Given the description of an element on the screen output the (x, y) to click on. 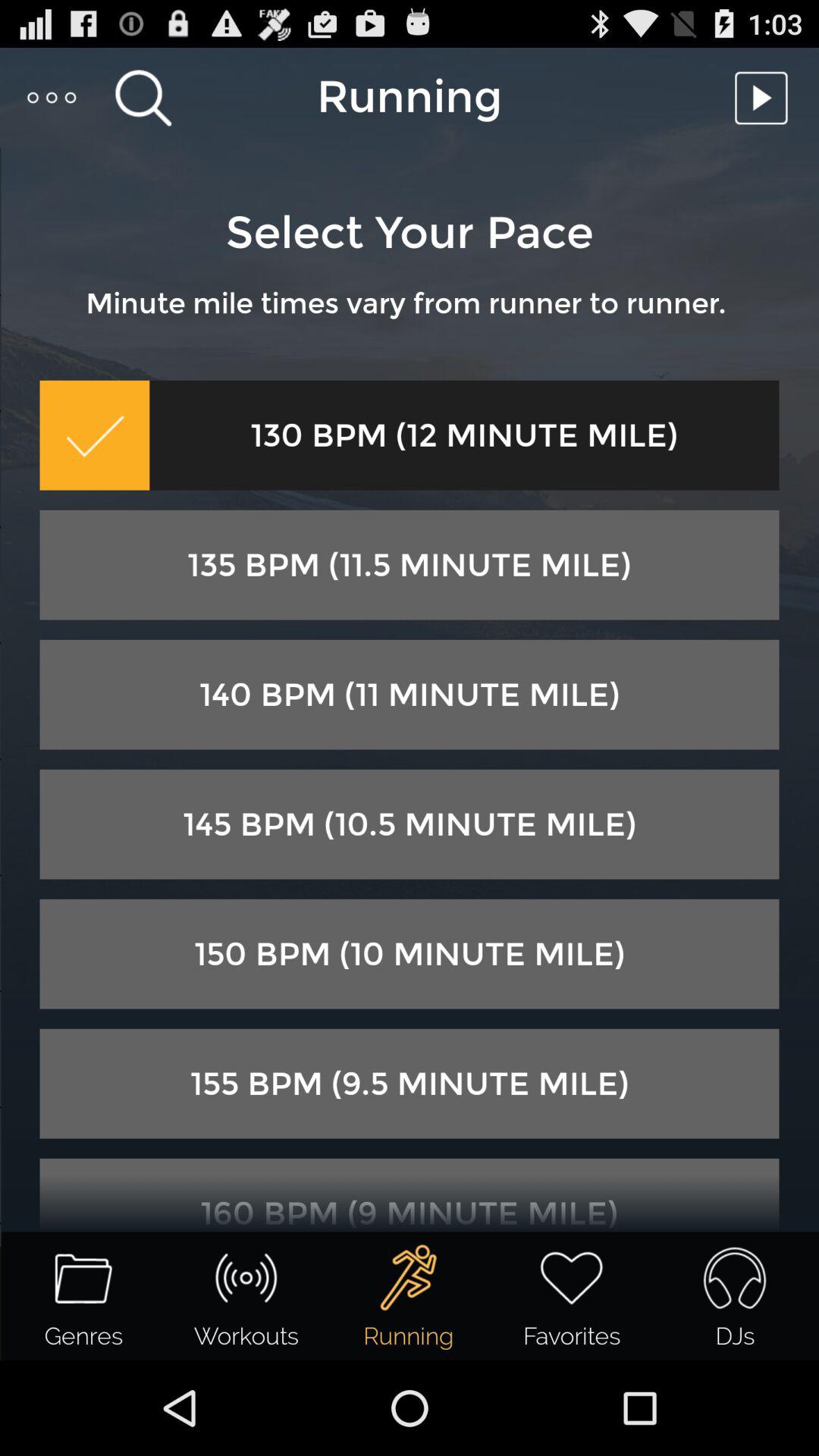
play (765, 97)
